Given the description of an element on the screen output the (x, y) to click on. 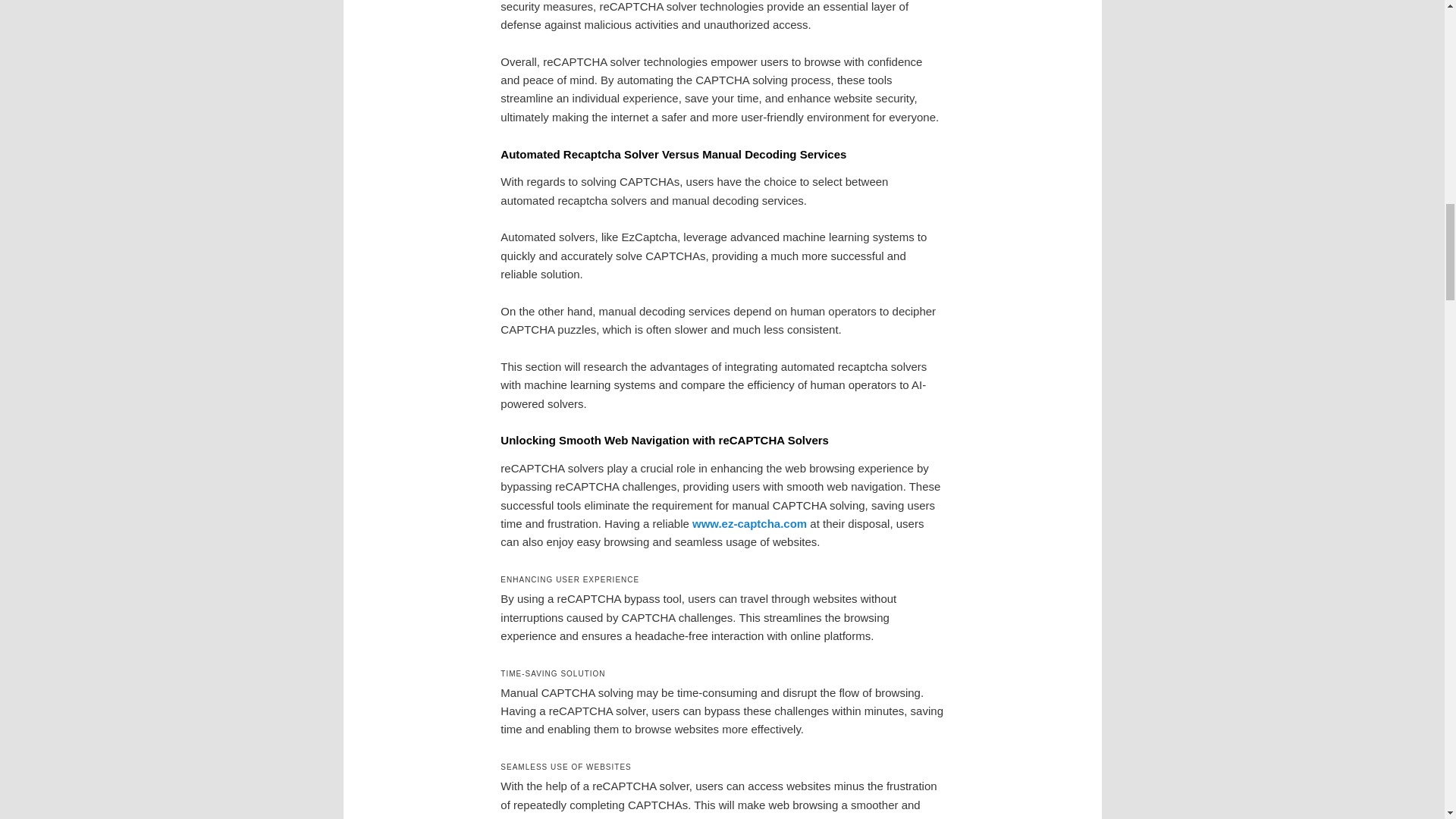
www.ez-captcha.com (749, 522)
